Given the description of an element on the screen output the (x, y) to click on. 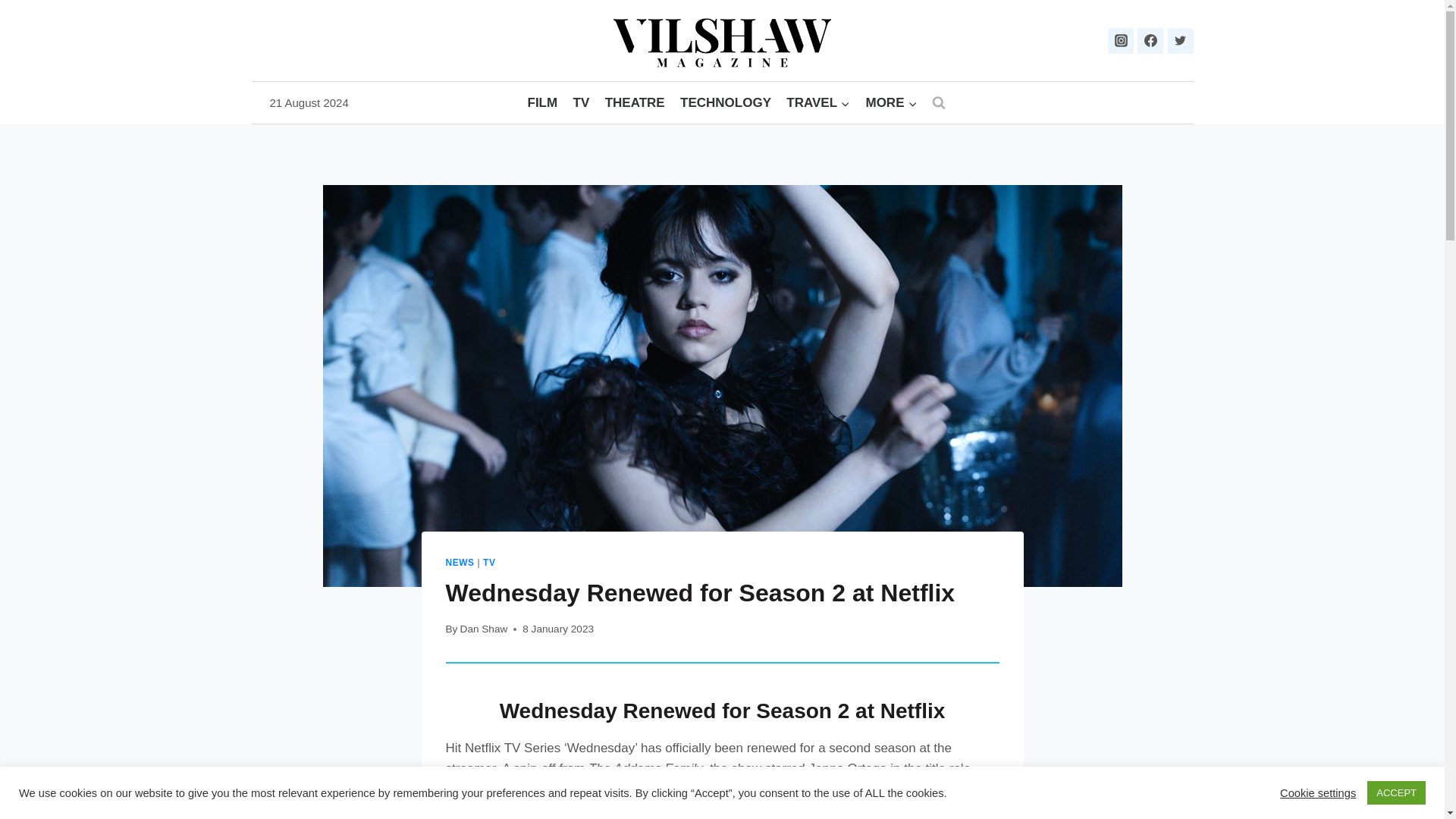
Dan Shaw (484, 628)
TRAVEL (817, 102)
FILM (541, 102)
MORE (890, 102)
TECHNOLOGY (725, 102)
TV (489, 562)
THEATRE (633, 102)
NEWS (459, 562)
